Given the description of an element on the screen output the (x, y) to click on. 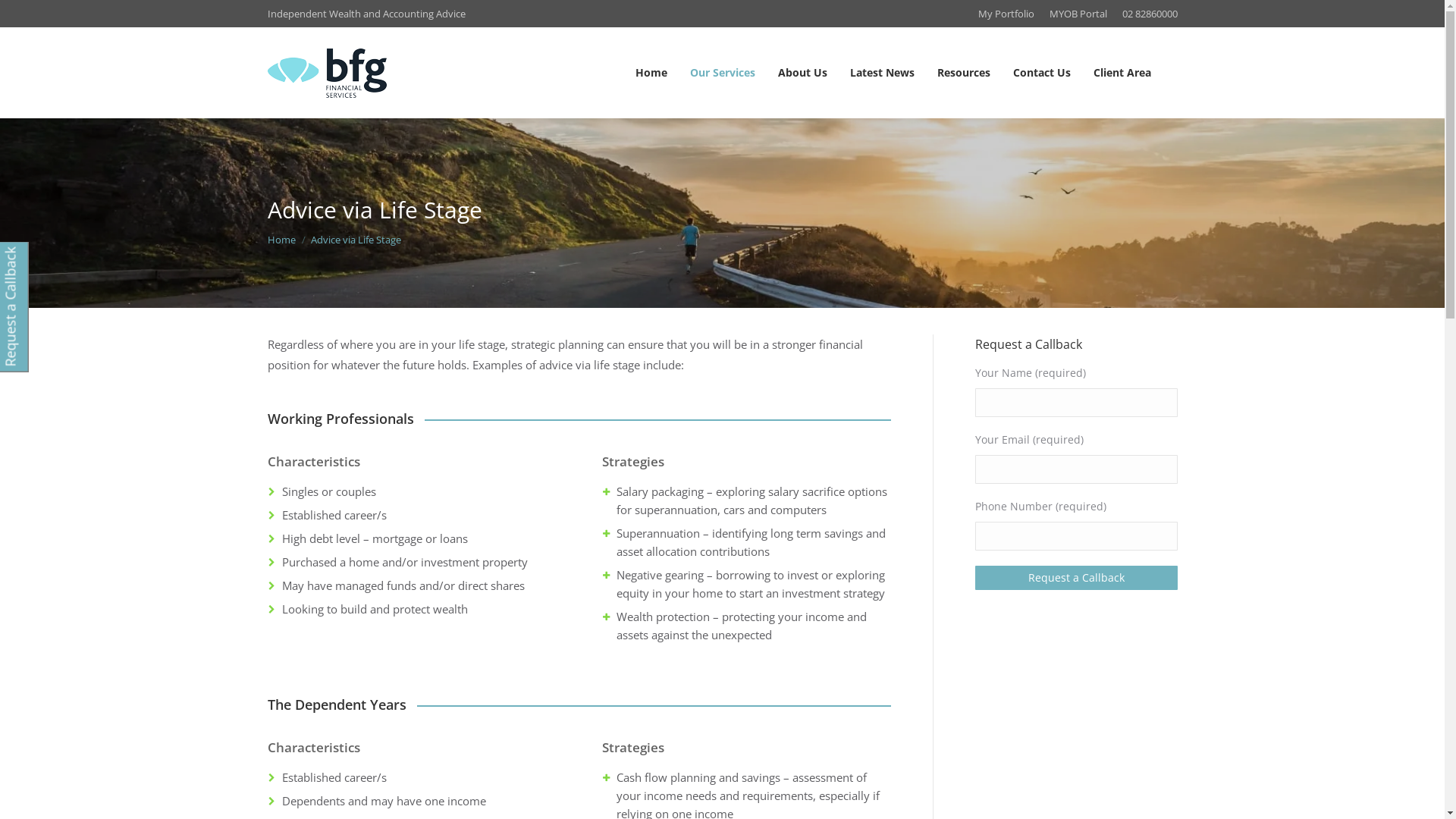
MYOB Portal Element type: text (1078, 13)
Contact Us Element type: text (1041, 72)
Client Area Element type: text (1121, 72)
02 82860000 Element type: text (1149, 13)
My Portfolio Element type: text (1006, 13)
Request a Callback Element type: text (1076, 577)
Our Services Element type: text (721, 72)
Home Element type: text (650, 72)
Latest News Element type: text (881, 72)
Resources Element type: text (963, 72)
Home Element type: text (280, 239)
About Us Element type: text (801, 72)
